Given the description of an element on the screen output the (x, y) to click on. 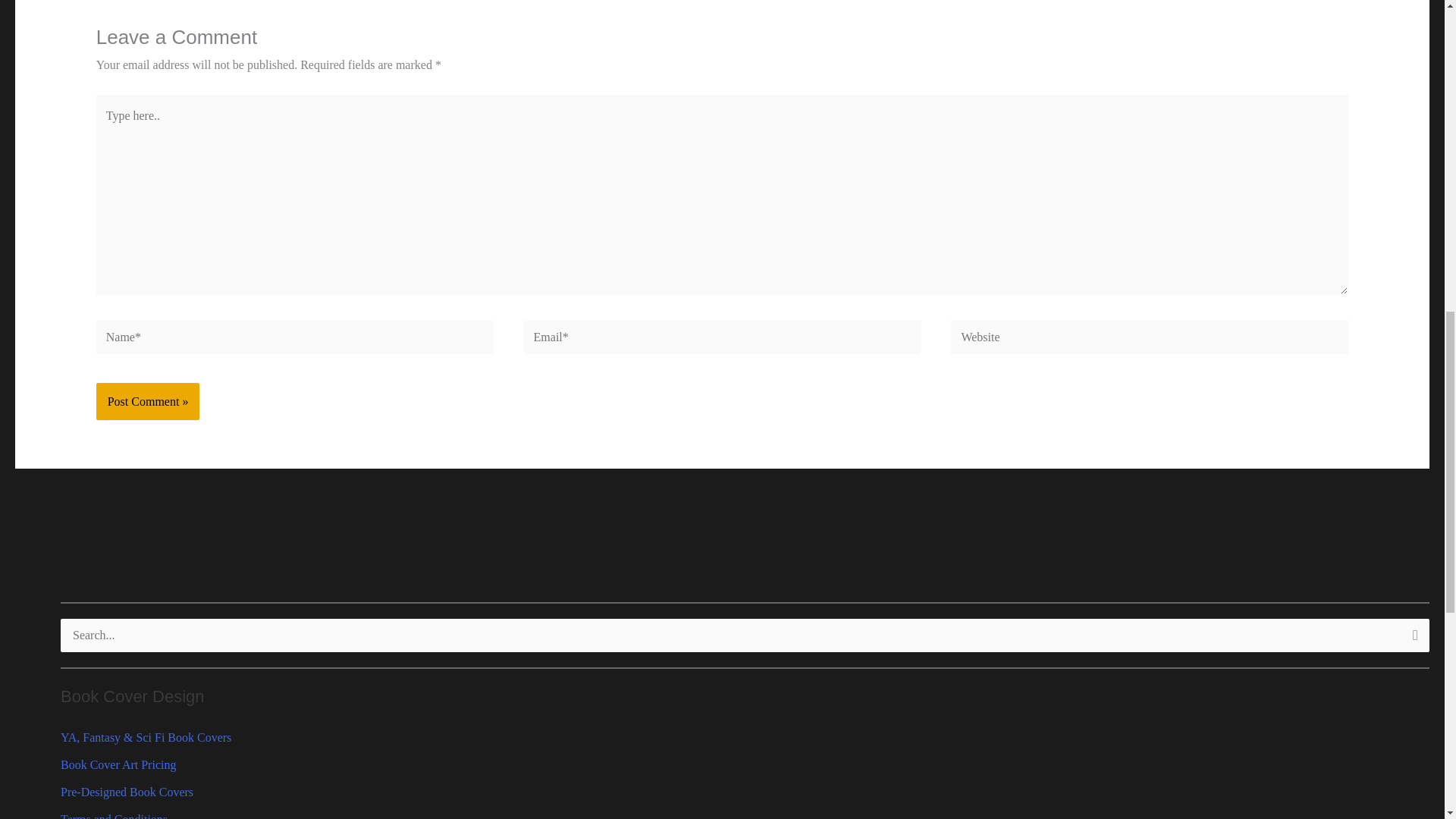
Search (1411, 639)
Search (1411, 639)
